Given the description of an element on the screen output the (x, y) to click on. 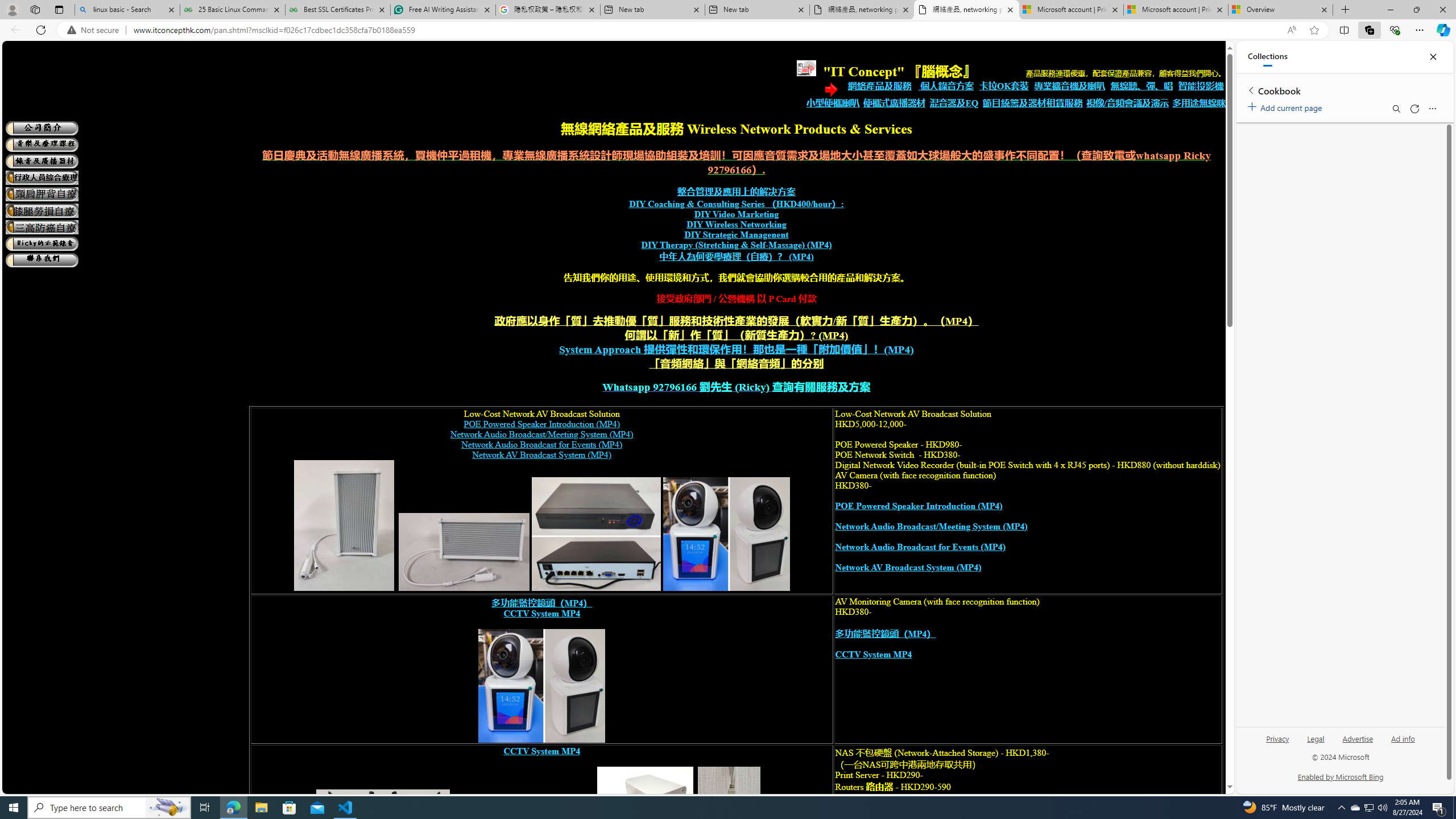
Back to list of collections (1250, 90)
Network Audio Broadcast for Events (MP4)  (920, 547)
